Given the description of an element on the screen output the (x, y) to click on. 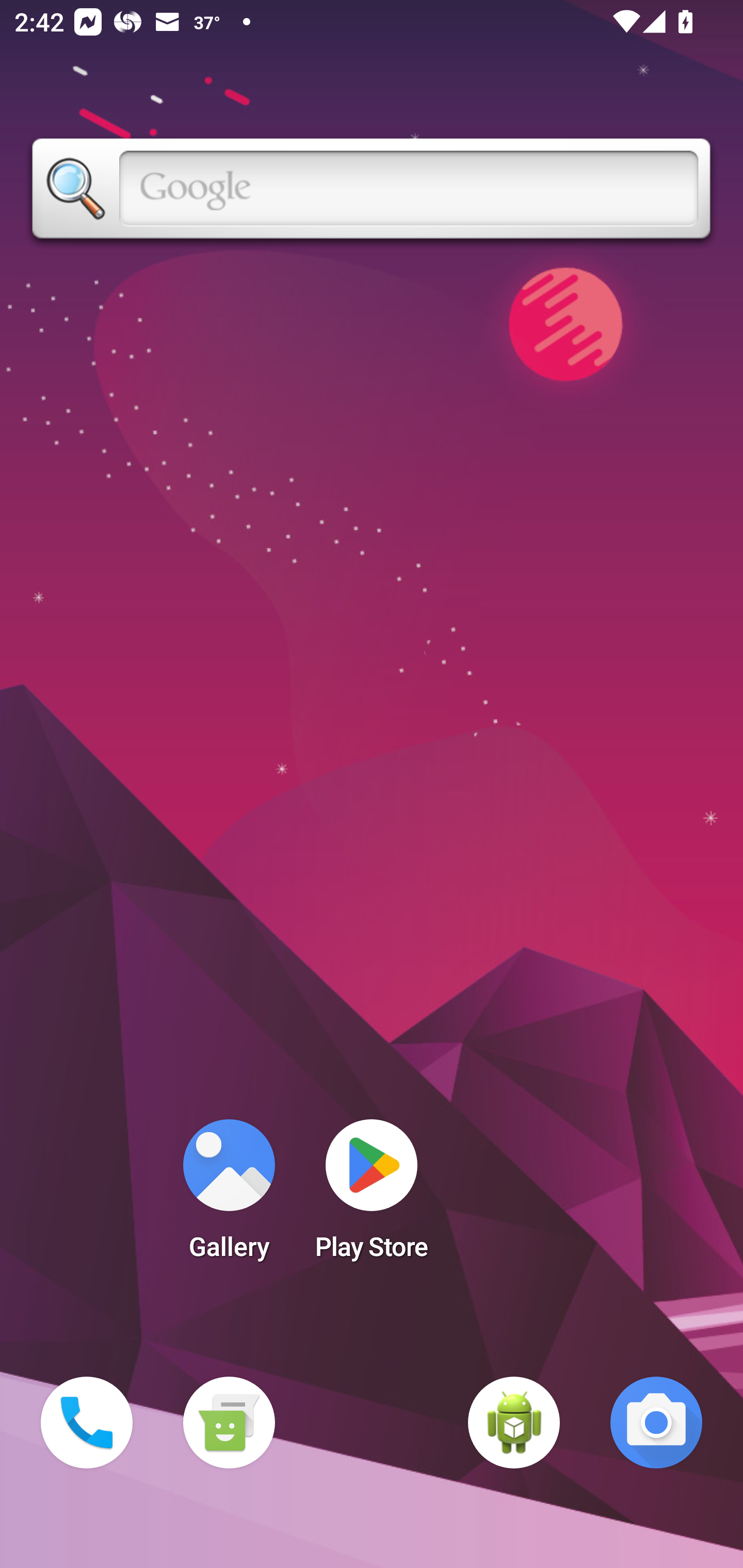
Gallery (228, 1195)
Play Store (371, 1195)
Phone (86, 1422)
Messaging (228, 1422)
WebView Browser Tester (513, 1422)
Camera (656, 1422)
